Given the description of an element on the screen output the (x, y) to click on. 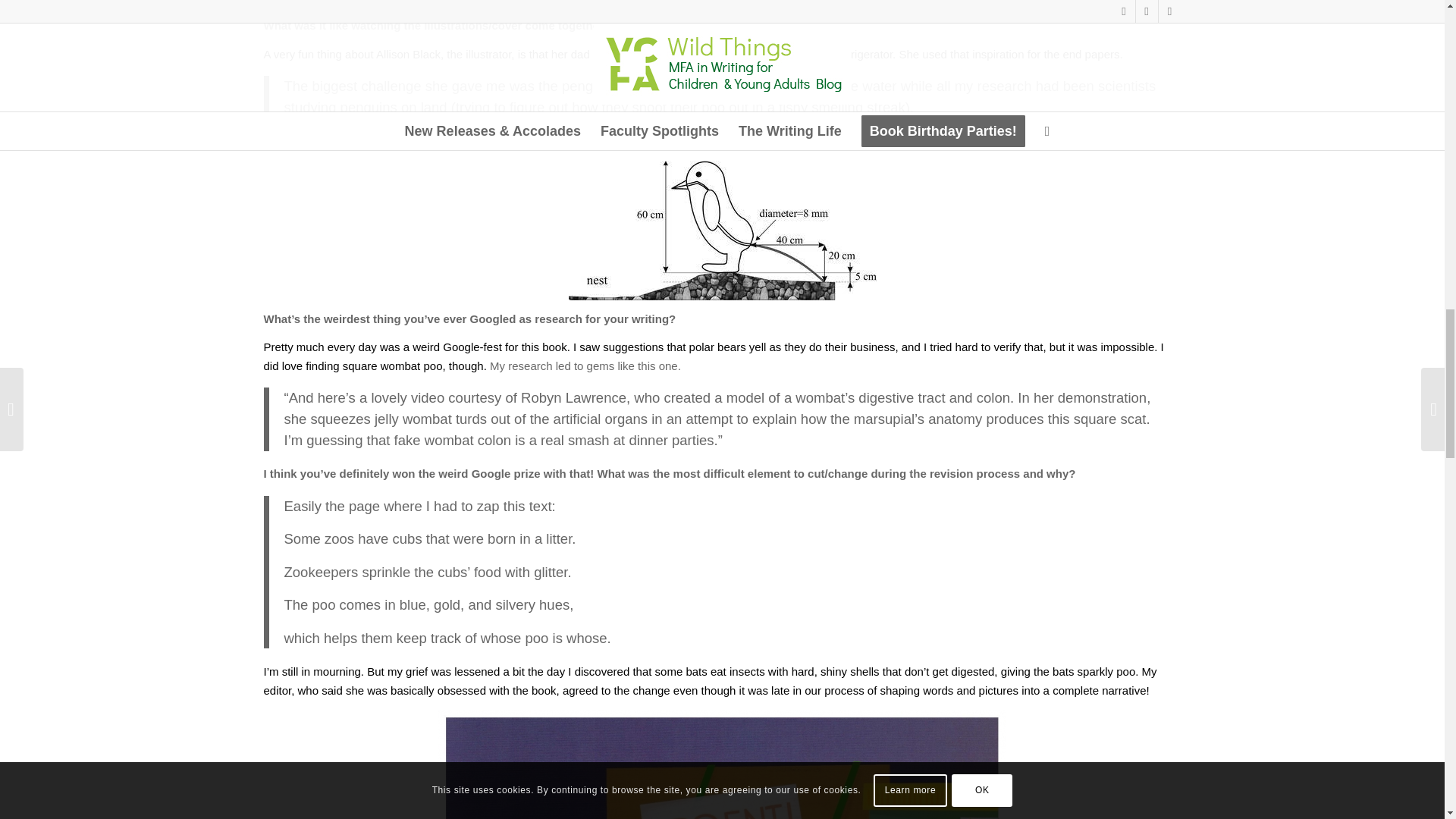
artwork Allison Black (722, 764)
01 gorilla poo (722, 8)
penguin poop diagram (722, 230)
My research led to gems like this one. (585, 365)
